Given the description of an element on the screen output the (x, y) to click on. 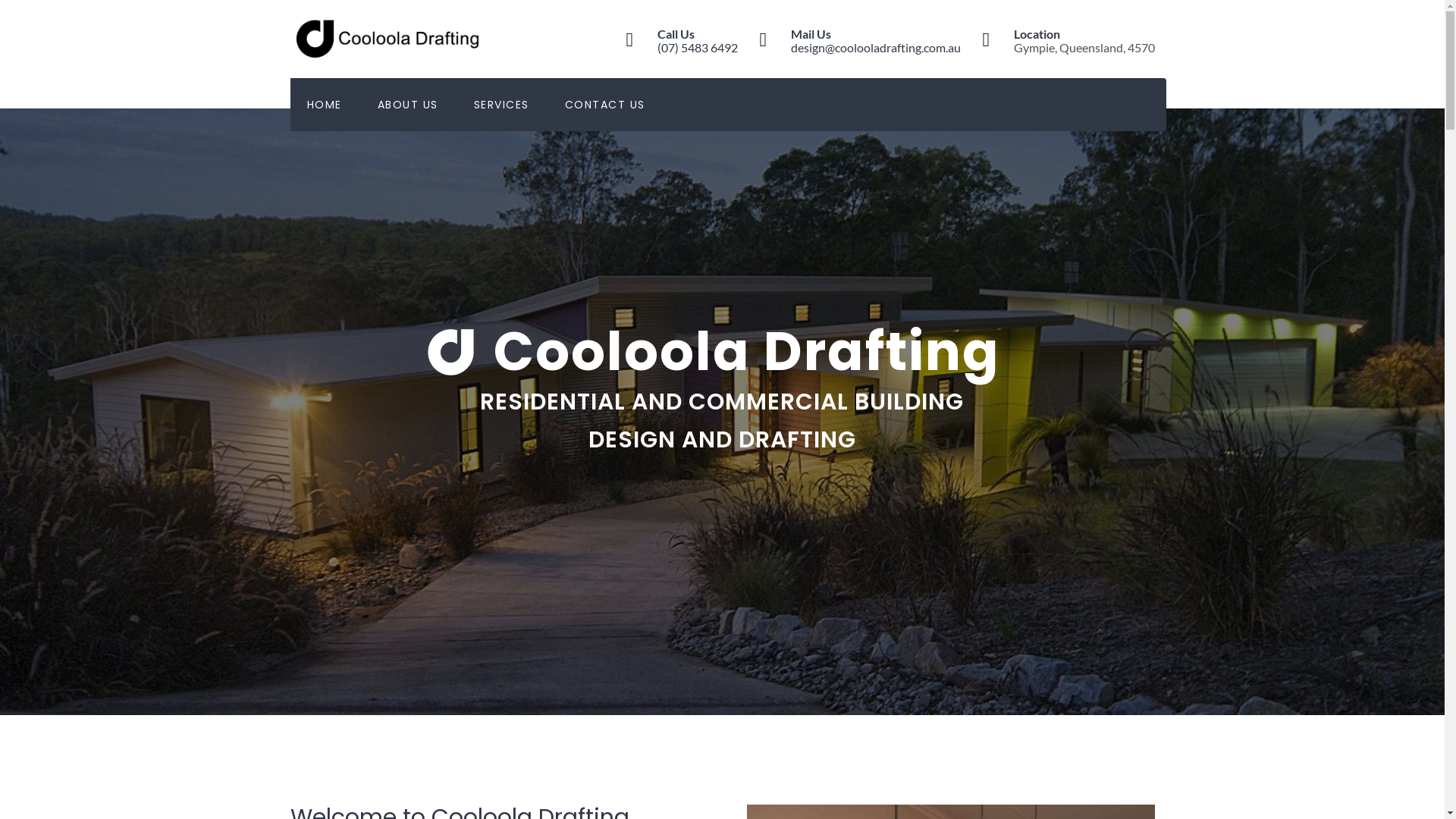
design@coolooladrafting.com.au Element type: text (875, 47)
ABOUT US Element type: text (407, 104)
SERVICES Element type: text (500, 104)
CONTACT US Element type: text (604, 104)
(07) 5483 6492 Element type: text (696, 47)
HOME Element type: text (323, 104)
